Given the description of an element on the screen output the (x, y) to click on. 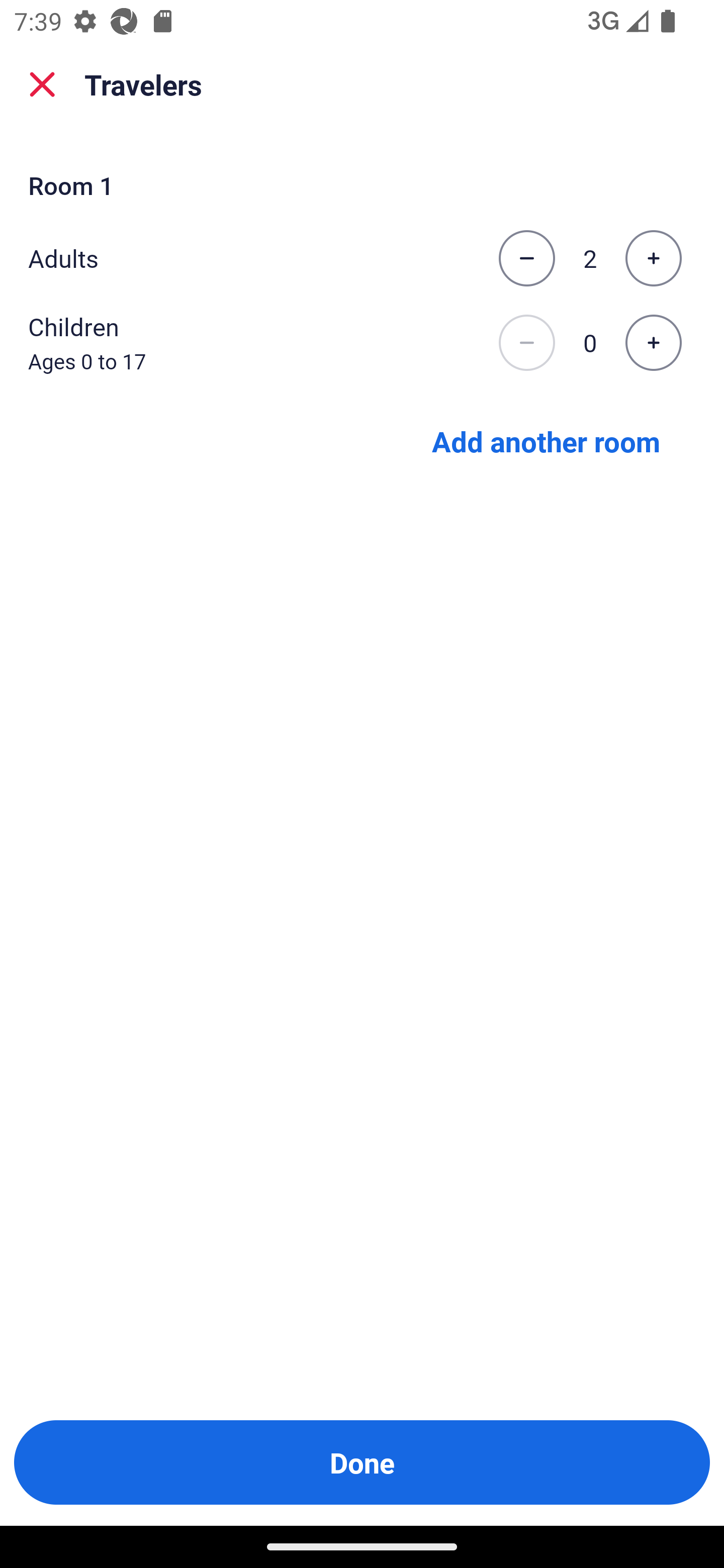
close (42, 84)
Decrease the number of adults (526, 258)
Increase the number of adults (653, 258)
Decrease the number of children (526, 343)
Increase the number of children (653, 343)
Add another room (545, 440)
Done (361, 1462)
